Given the description of an element on the screen output the (x, y) to click on. 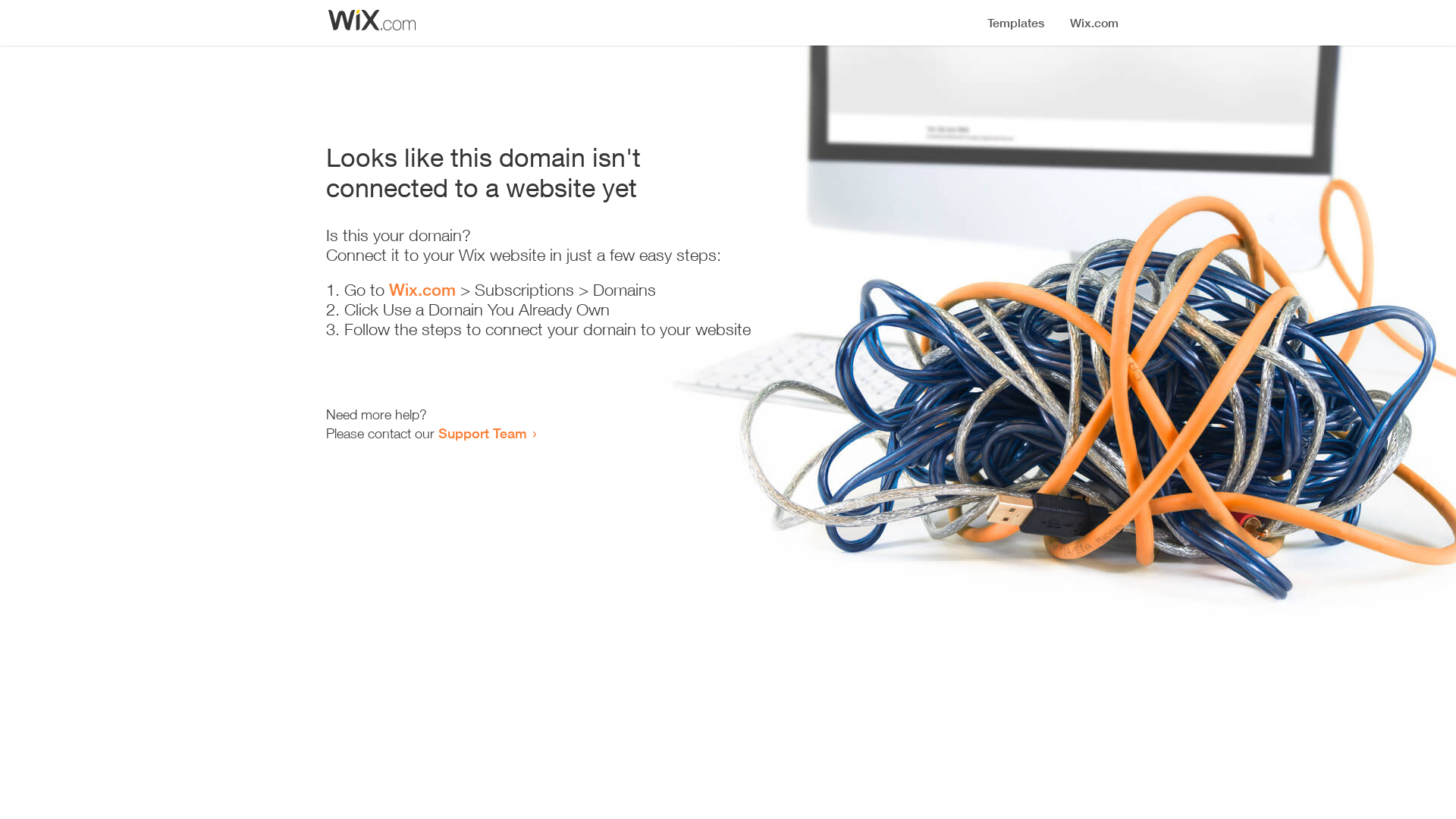
Wix.com Element type: text (422, 289)
Support Team Element type: text (482, 432)
